Given the description of an element on the screen output the (x, y) to click on. 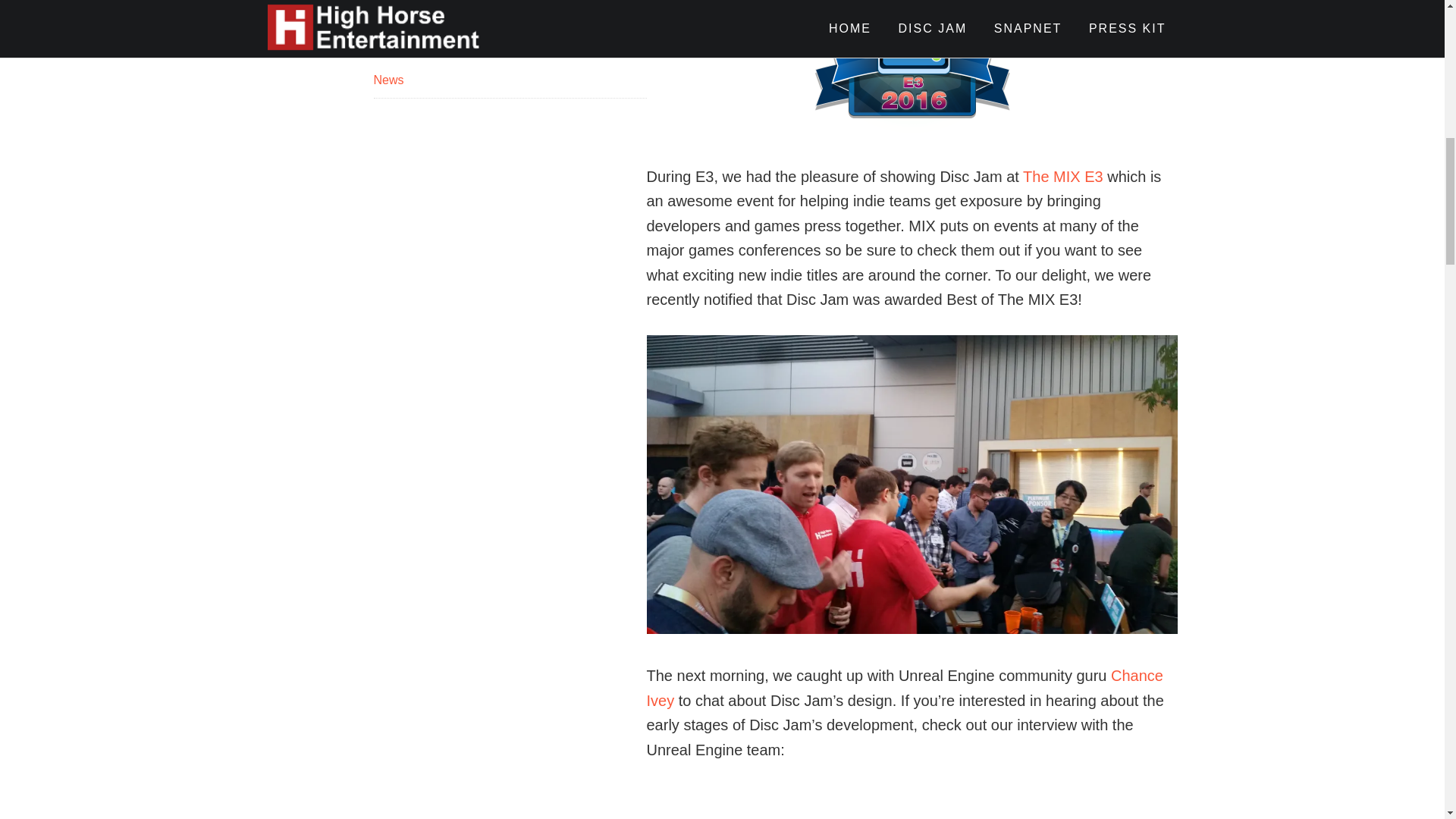
News (387, 79)
The MIX E3 (1063, 176)
Chance Ivey (903, 688)
